Given the description of an element on the screen output the (x, y) to click on. 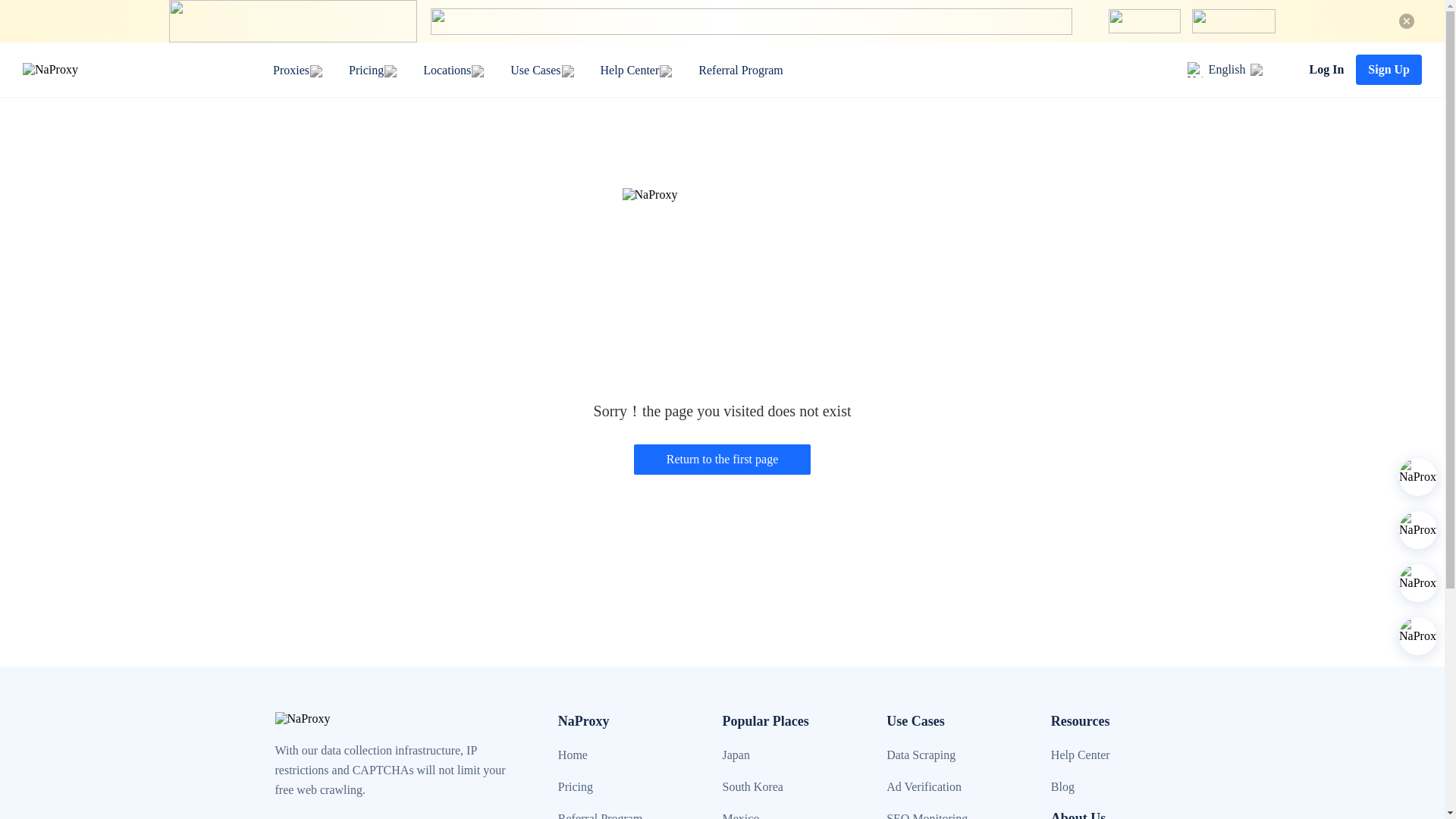
Help Center (629, 69)
Referral Program (740, 69)
Use Cases (535, 69)
Sign Up (1388, 69)
Log In (1326, 69)
